Given the description of an element on the screen output the (x, y) to click on. 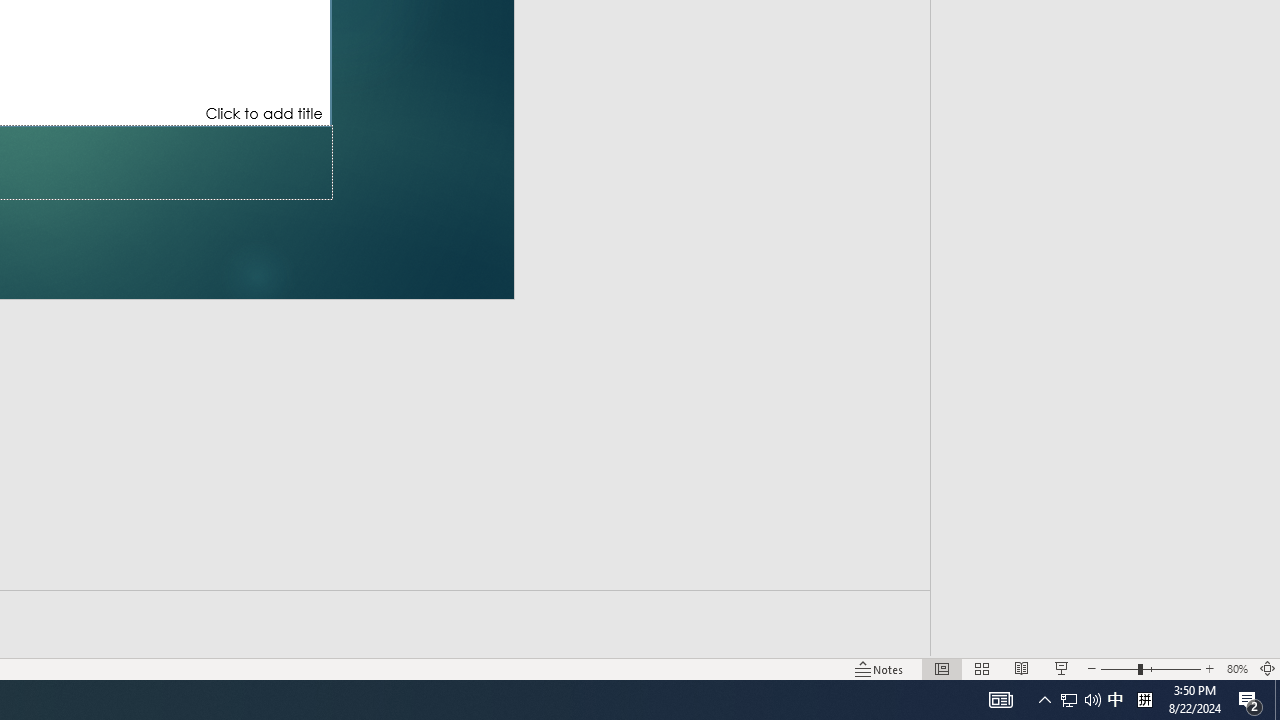
Zoom 80% (1236, 668)
